Given the description of an element on the screen output the (x, y) to click on. 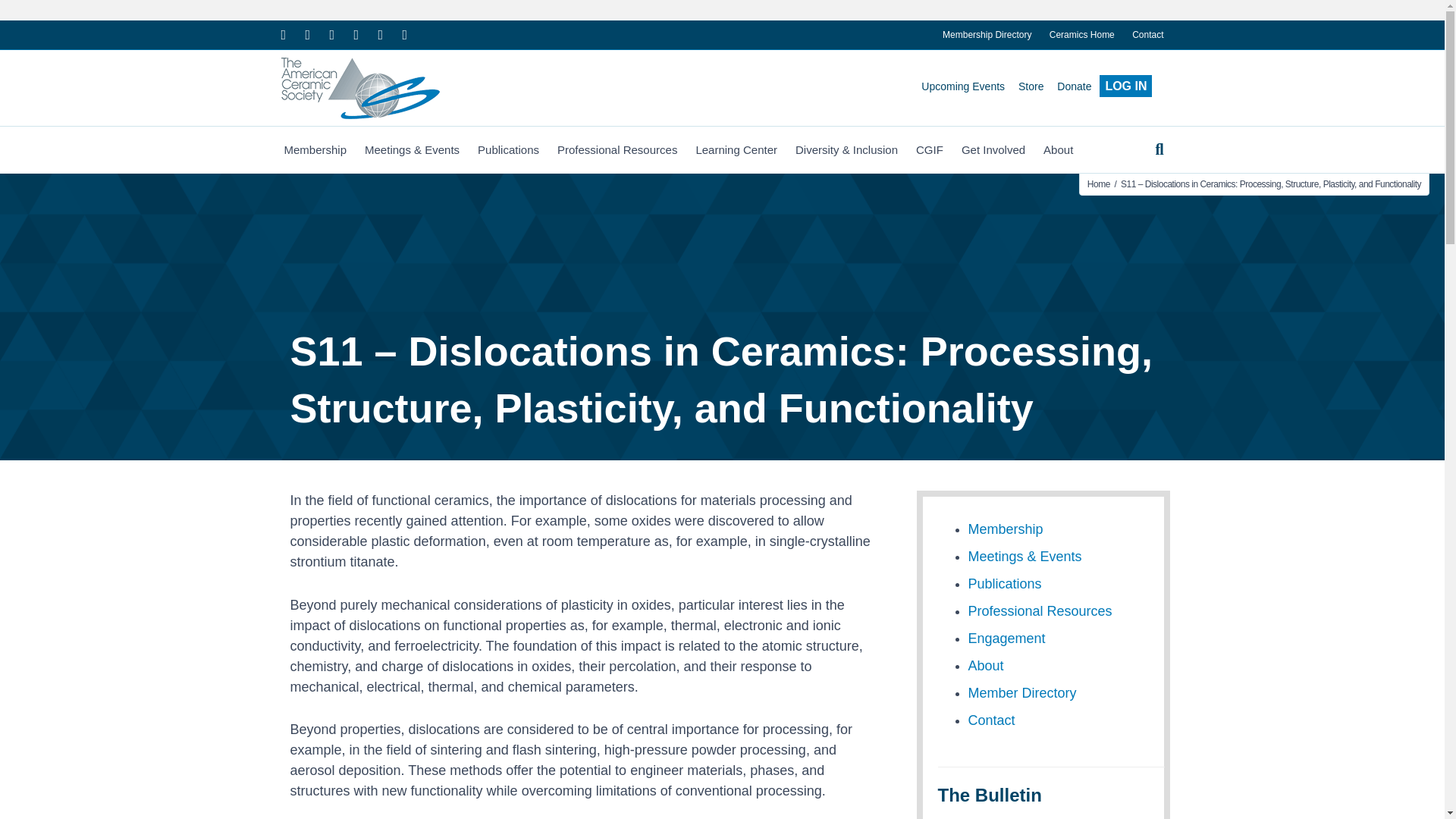
Go to The American Ceramic Society. (1098, 184)
